Given the description of an element on the screen output the (x, y) to click on. 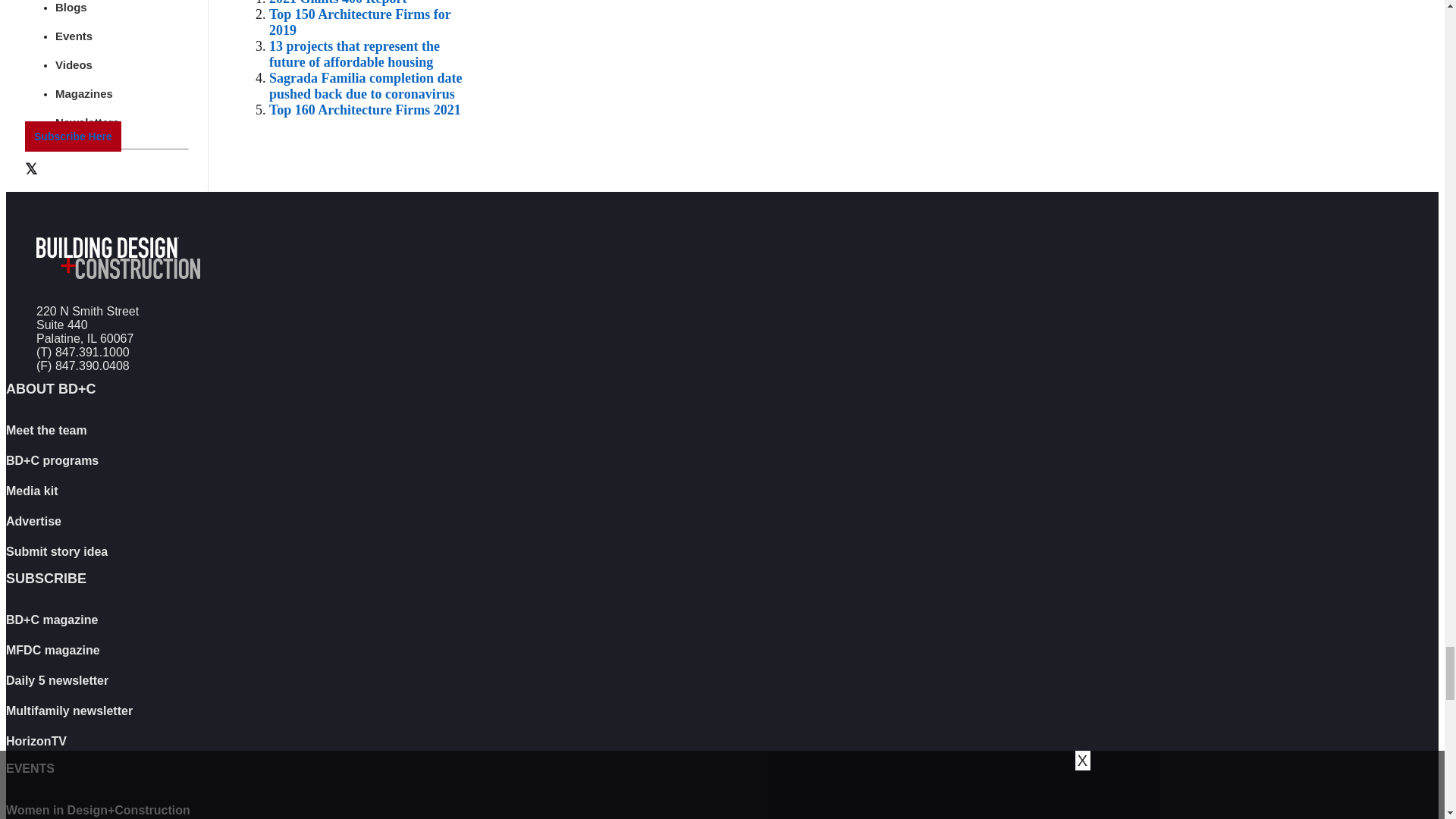
Home (118, 289)
